Given the description of an element on the screen output the (x, y) to click on. 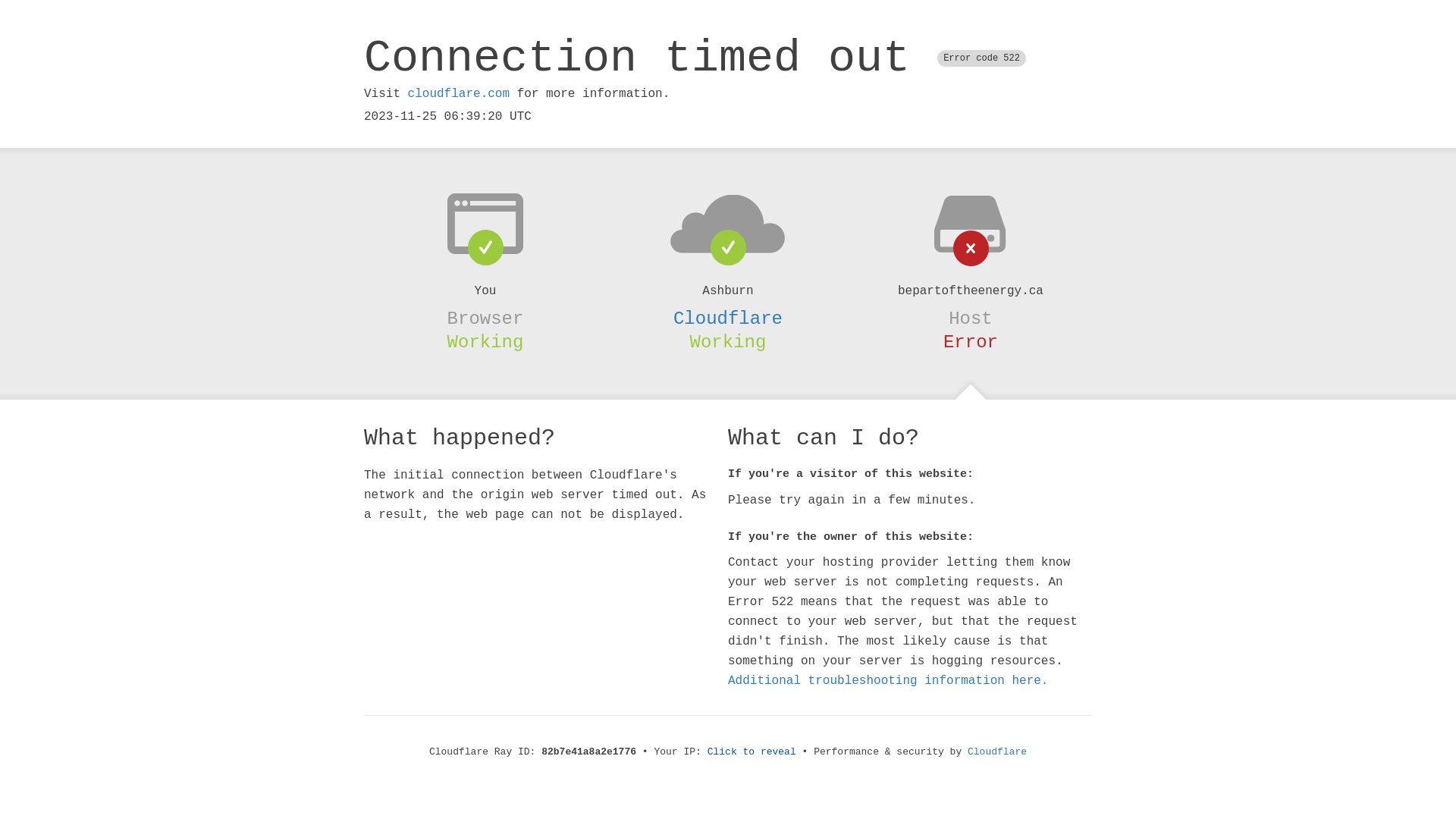
Click to reveal Element type: text (751, 751)
Cloudflare Element type: text (727, 318)
cloudflare.com Element type: text (458, 93)
Cloudflare Element type: text (996, 751)
Additional troubleshooting information here. Element type: text (888, 680)
